Given the description of an element on the screen output the (x, y) to click on. 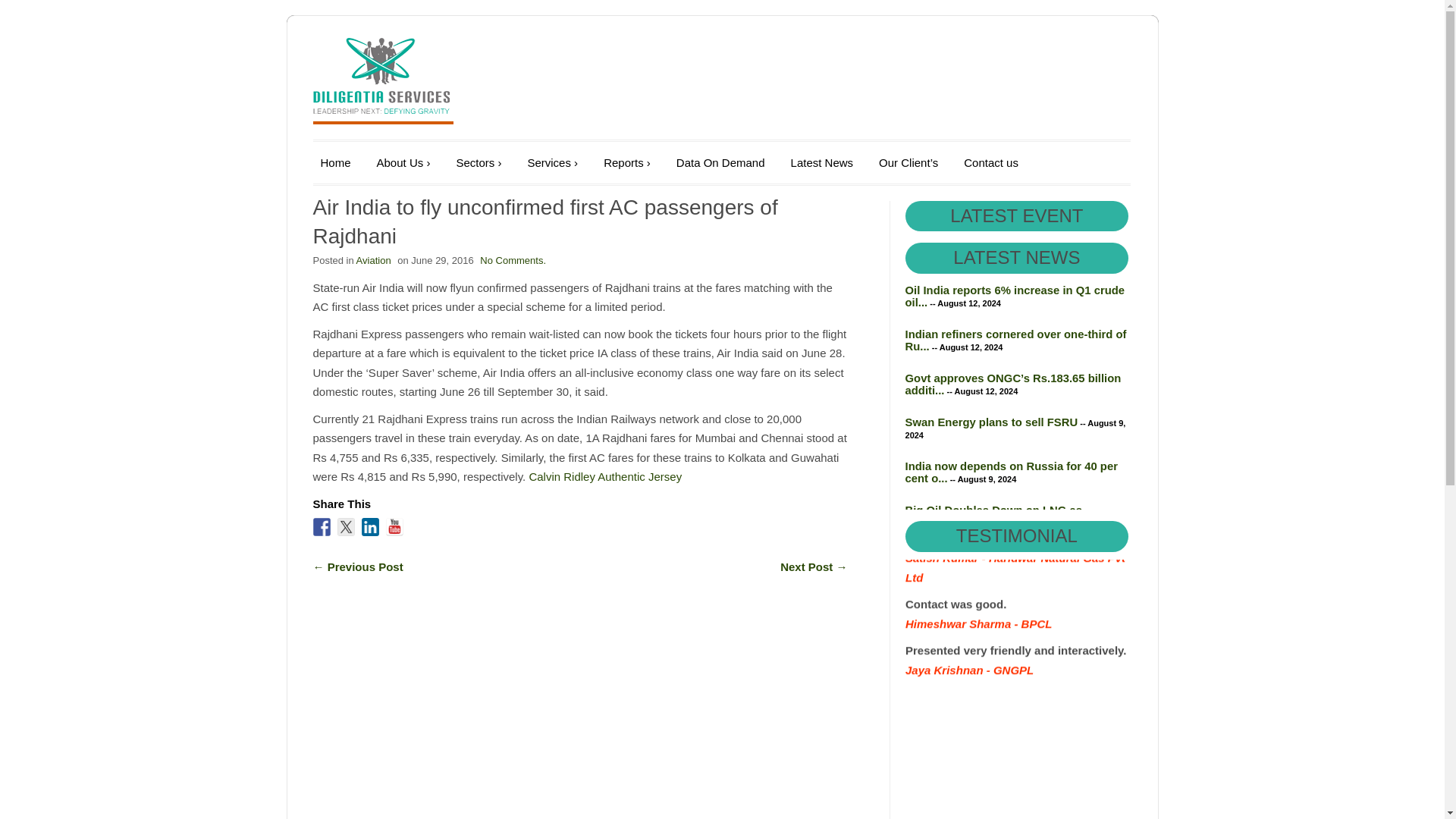
Calvin Ridley Authentic Jersey (604, 476)
Home (335, 162)
Find us on YouTube (394, 526)
Latest News (822, 162)
Aviation (373, 260)
Follow us on Twitter (345, 526)
Follow us on Facebook (321, 526)
Data On Demand (720, 162)
Contact us (991, 162)
No Comments. (513, 260)
